Given the description of an element on the screen output the (x, y) to click on. 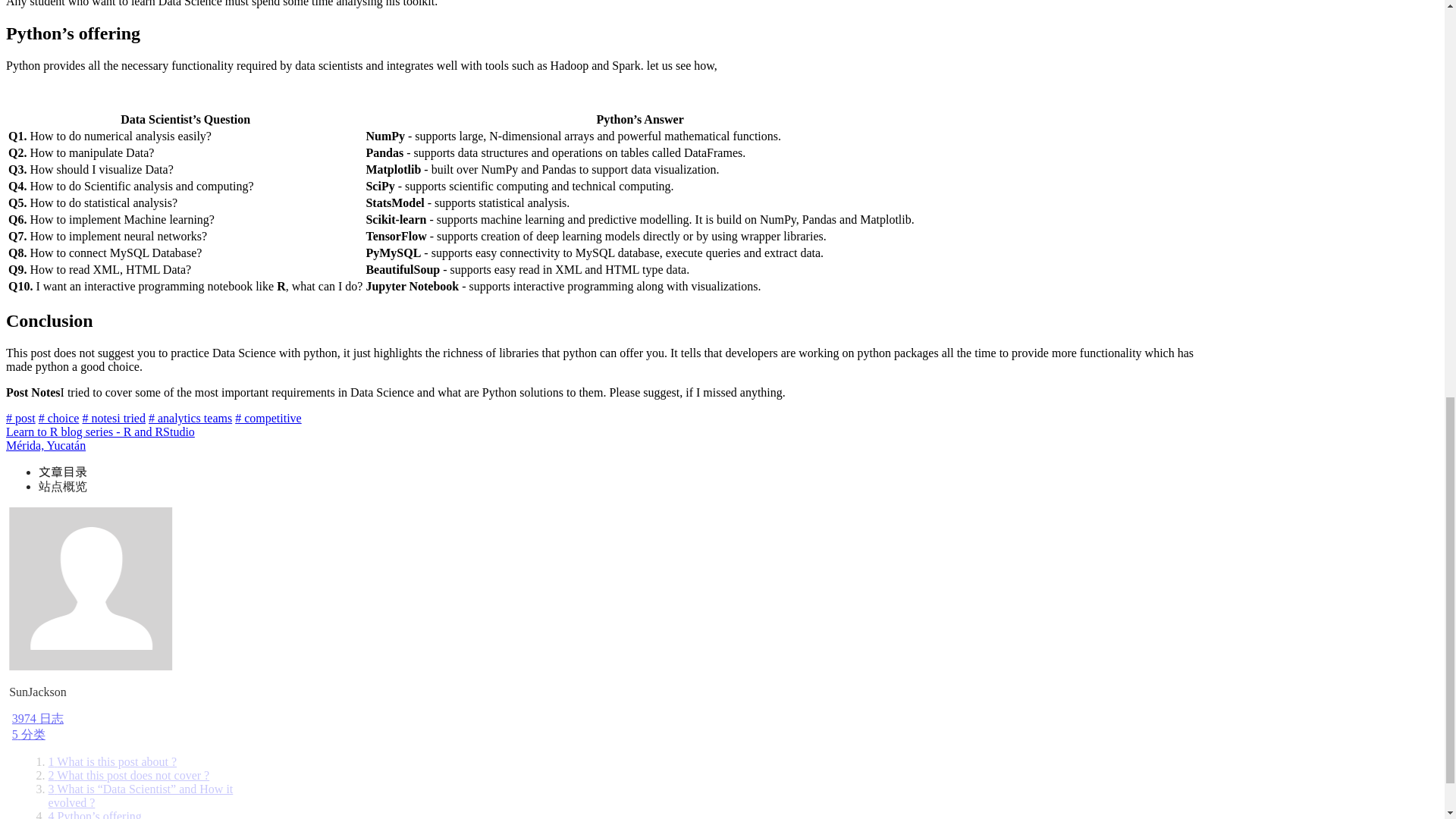
1 What is this post about ? (112, 761)
Learn to R blog series - R and RStudio (100, 431)
2 What this post does not cover ? (128, 775)
Learn to R blog series - R and RStudio (100, 431)
